Given the description of an element on the screen output the (x, y) to click on. 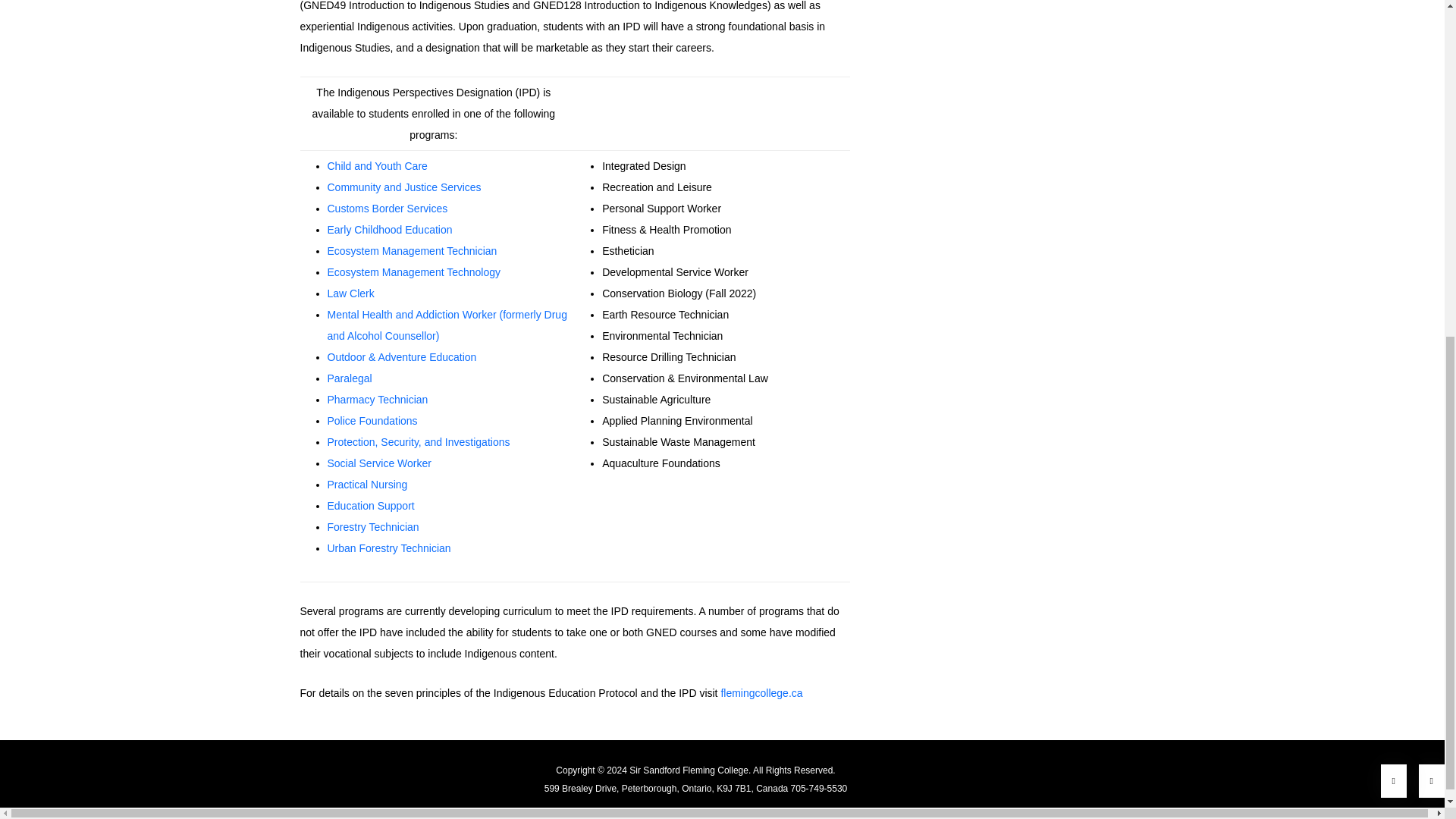
Child and Youth Care (377, 165)
Education Support (370, 505)
Law Clerk (350, 293)
Ecosystem Management Technology (413, 272)
Ecosystem Management Technician (412, 250)
Protection, Security, and Investigations (419, 441)
Community and Justice Services (404, 186)
Police Foundations (372, 420)
Pharmacy Technician  (378, 399)
flemingcollege.ca (761, 693)
Early Childhood Education (389, 229)
Urban Forestry Technician (389, 548)
Social Service Worker (378, 463)
Paralegal (349, 378)
Customs Border Services (387, 208)
